Given the description of an element on the screen output the (x, y) to click on. 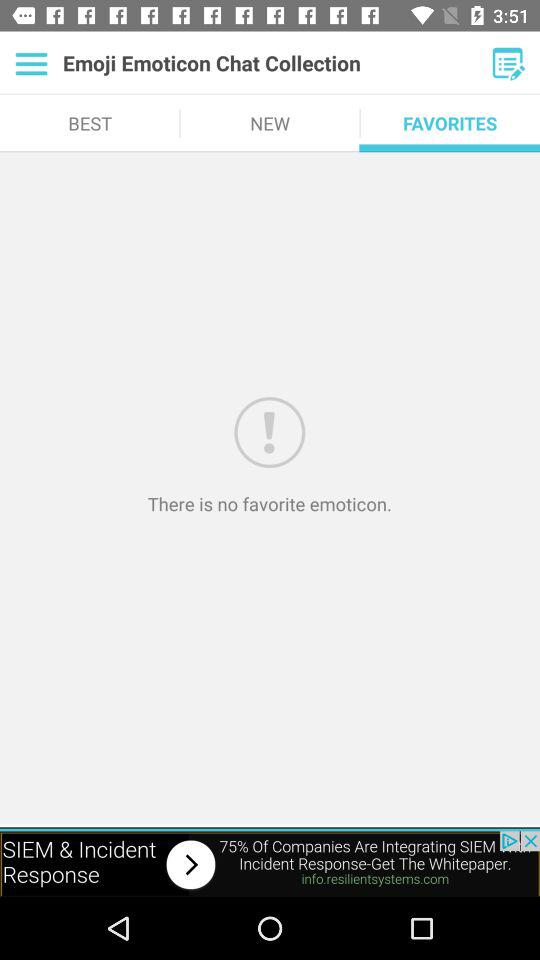
go to main menu (31, 63)
